Given the description of an element on the screen output the (x, y) to click on. 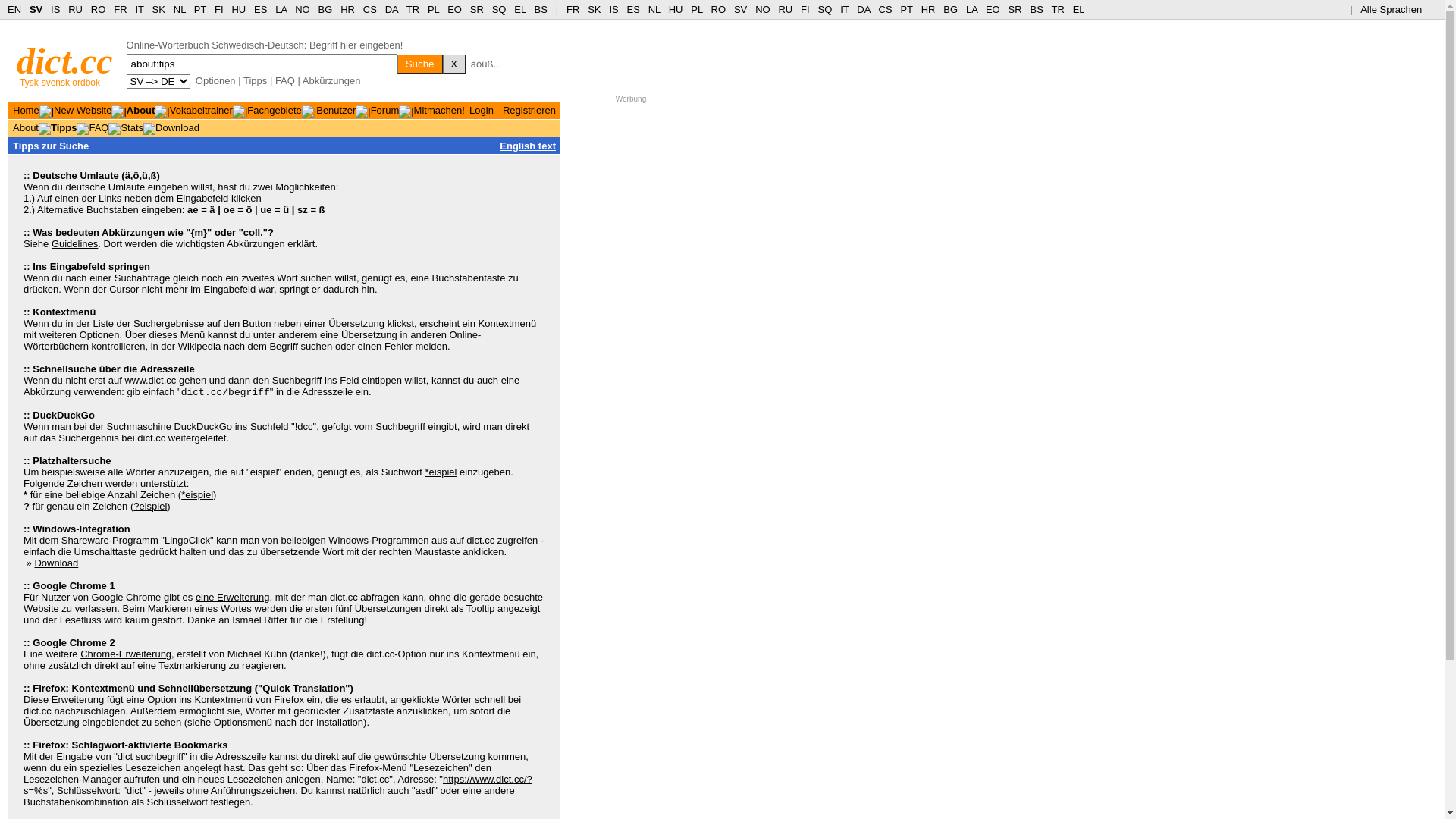
SQ Element type: text (499, 9)
Vokabeltrainer Element type: text (200, 110)
Benutzer Element type: text (335, 110)
FAQ Element type: text (284, 80)
X Element type: text (453, 63)
BG Element type: text (950, 9)
DuckDuckGo Element type: text (202, 426)
NO Element type: text (302, 9)
EL Element type: text (519, 9)
About Element type: text (25, 127)
CS Element type: text (884, 9)
IS Element type: text (613, 9)
English text Element type: text (527, 144)
Chrome-Erweiterung Element type: text (125, 653)
SK Element type: text (158, 9)
Registrieren Element type: text (528, 110)
FI Element type: text (804, 9)
EO Element type: text (992, 9)
https://www.dict.cc/?s=%s Element type: text (277, 784)
PT Element type: text (906, 9)
SV Element type: text (35, 9)
RU Element type: text (75, 9)
SQ Element type: text (824, 9)
PT Element type: text (200, 9)
DA Element type: text (862, 9)
HU Element type: text (675, 9)
NL Element type: text (179, 9)
NO Element type: text (762, 9)
Diese Erweiterung Element type: text (63, 699)
IT Element type: text (844, 9)
LA Element type: text (971, 9)
*eispiel Element type: text (197, 494)
*eispiel Element type: text (441, 471)
HR Element type: text (928, 9)
Login Element type: text (481, 110)
Home Element type: text (25, 110)
TR Element type: text (412, 9)
Forum Element type: text (384, 110)
BG Element type: text (325, 9)
FR Element type: text (119, 9)
BS Element type: text (1035, 9)
Tipps Element type: text (63, 127)
HR Element type: text (347, 9)
NL Element type: text (654, 9)
Alle Sprachen  Element type: text (1397, 9)
RU Element type: text (785, 9)
Download Element type: text (177, 127)
FR Element type: text (572, 9)
EL Element type: text (1079, 9)
RO Element type: text (718, 9)
FI Element type: text (218, 9)
ES Element type: text (260, 9)
RO Element type: text (98, 9)
HU Element type: text (238, 9)
?eispiel Element type: text (149, 505)
Guidelines Element type: text (74, 243)
eine Erweiterung Element type: text (232, 596)
TR Element type: text (1057, 9)
Optionen Element type: text (215, 80)
New Website Element type: text (82, 110)
SR Element type: text (1015, 9)
LA Element type: text (280, 9)
Mitmachen! Element type: text (439, 110)
SR Element type: text (476, 9)
SV Element type: text (740, 9)
BS Element type: text (540, 9)
Stats Element type: text (131, 127)
DA Element type: text (391, 9)
About Element type: text (140, 110)
CS Element type: text (369, 9)
Download Element type: text (56, 562)
ES Element type: text (633, 9)
Suche Element type: text (419, 63)
SK Element type: text (593, 9)
EO Element type: text (454, 9)
IS Element type: text (54, 9)
dict.cc Element type: text (64, 60)
PL Element type: text (433, 9)
PL Element type: text (696, 9)
EN Element type: text (14, 9)
Tipps Element type: text (254, 80)
Fachgebiete Element type: text (274, 110)
IT Element type: text (138, 9)
FAQ Element type: text (98, 127)
